Given the description of an element on the screen output the (x, y) to click on. 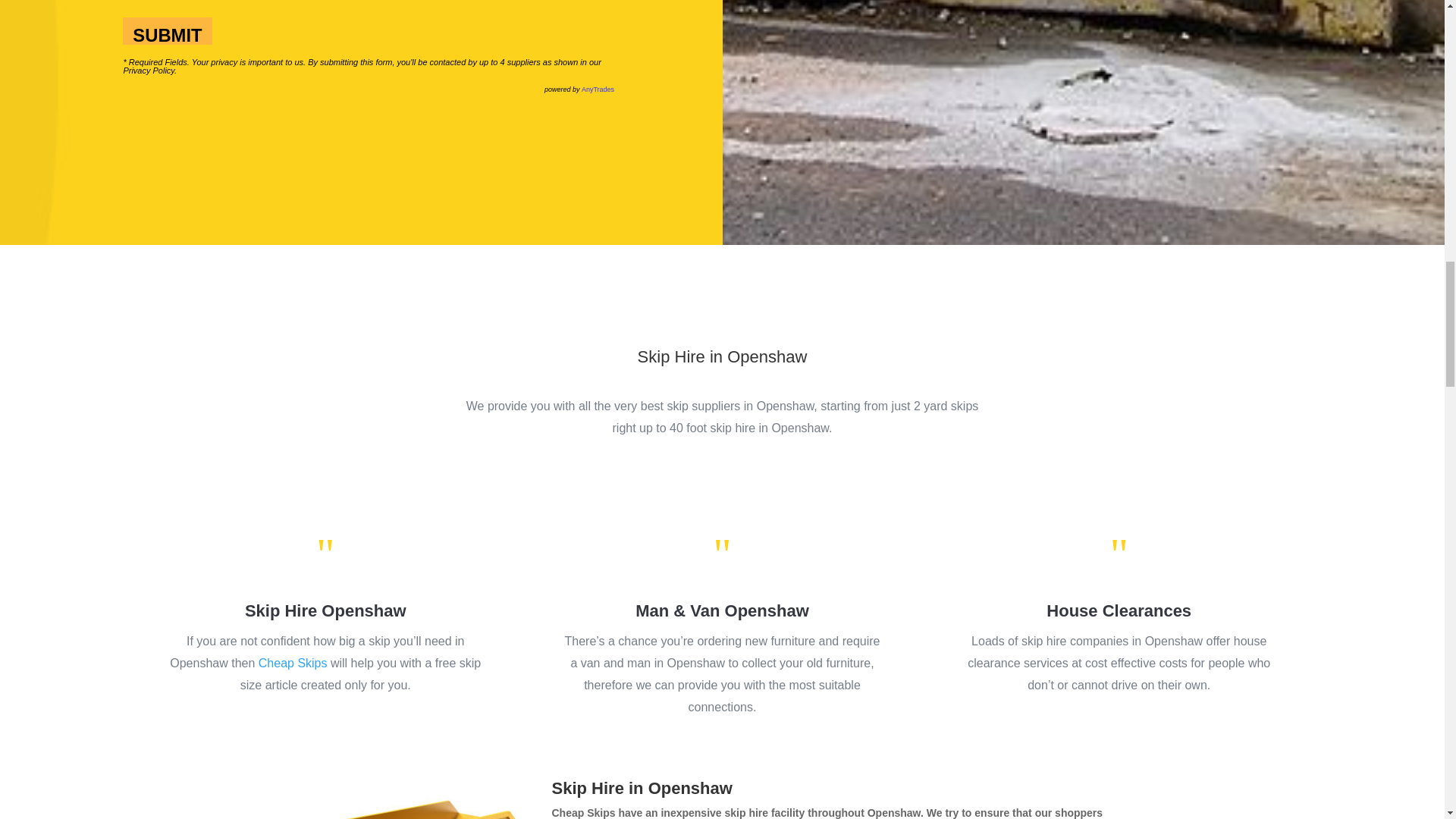
submit (166, 31)
powered by AnyTrades (579, 89)
submit (166, 31)
Cheap Skips (293, 662)
Privacy Policy (148, 70)
Cheap Skips in Openshaw (426, 799)
